Given the description of an element on the screen output the (x, y) to click on. 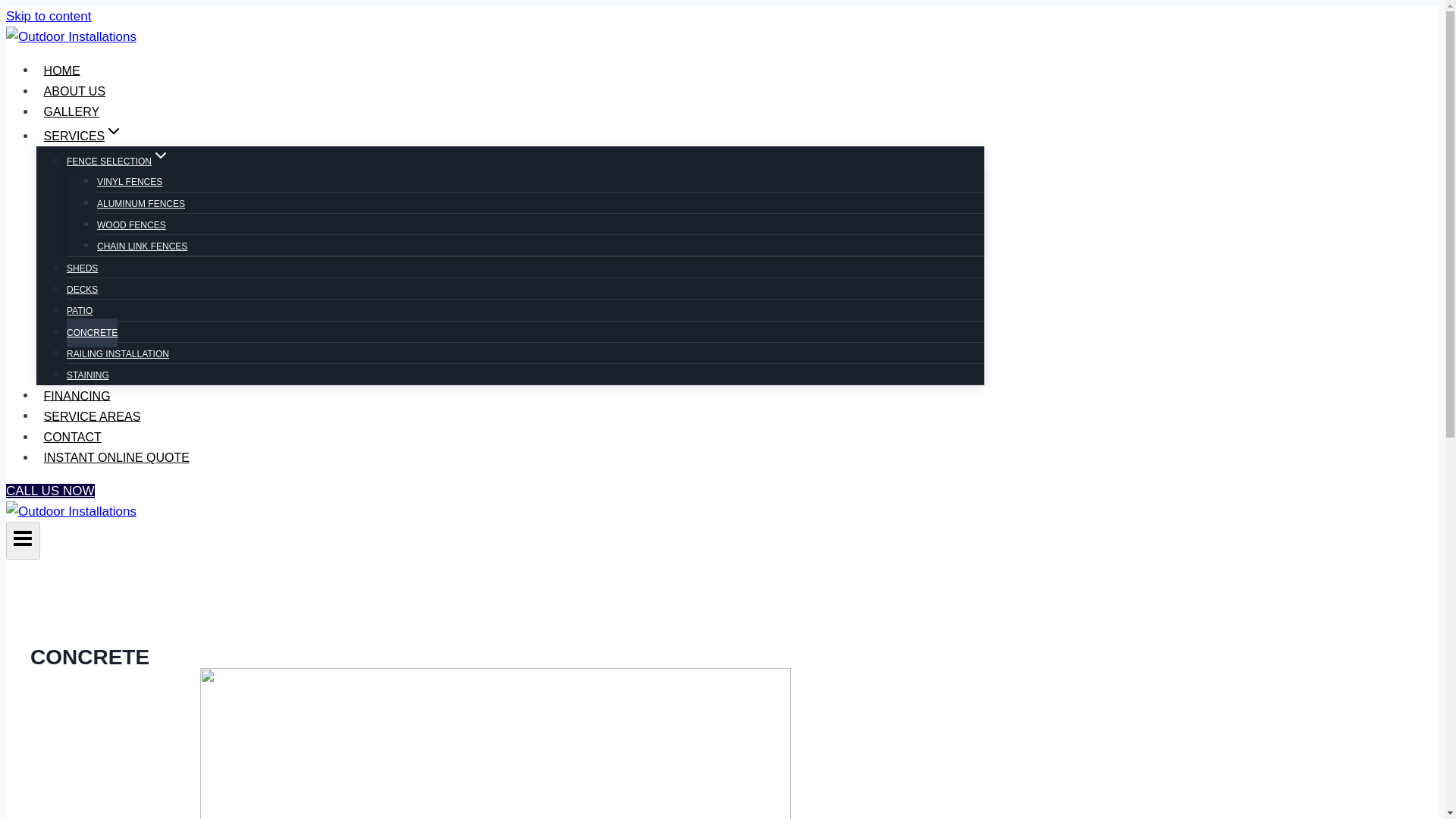
RAILING INSTALLATION (117, 353)
GALLERY (71, 111)
Toggle Menu (22, 537)
ABOUT US (74, 90)
Expand (113, 131)
CONTACT (71, 436)
CHAIN LINK FENCES (142, 246)
VINYL FENCES (129, 181)
INSTANT ONLINE QUOTE (116, 456)
Skip to content (47, 16)
ALUMINUM FENCES (140, 203)
FINANCING (76, 395)
SERVICESExpand (83, 135)
SERVICE AREAS (92, 415)
Skip to content (47, 16)
